Given the description of an element on the screen output the (x, y) to click on. 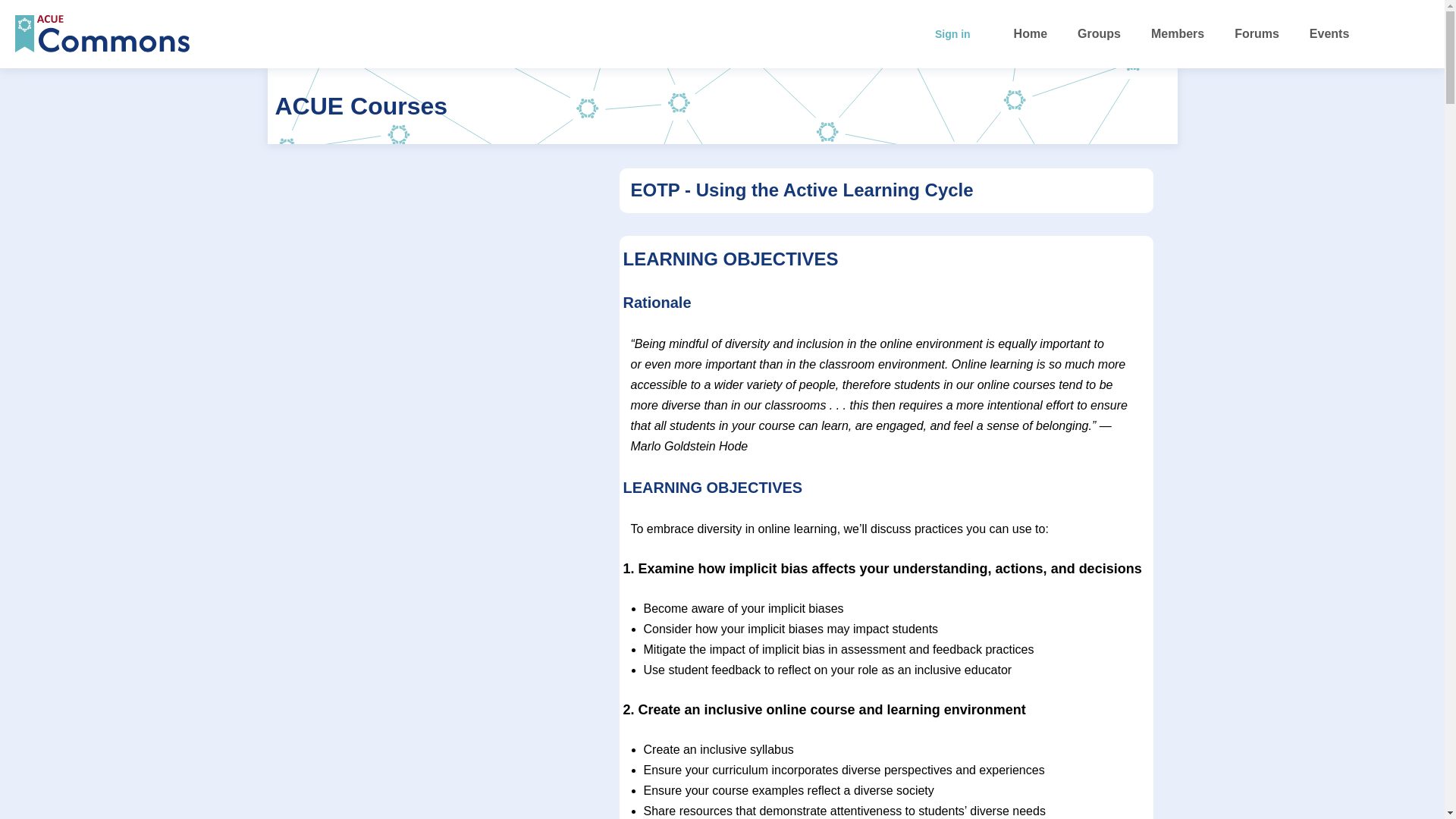
Home (1030, 33)
Events (1328, 33)
Sign in (952, 33)
Members (1177, 33)
Sign in (1399, 33)
Forums (1256, 33)
Groups (1098, 33)
